Given the description of an element on the screen output the (x, y) to click on. 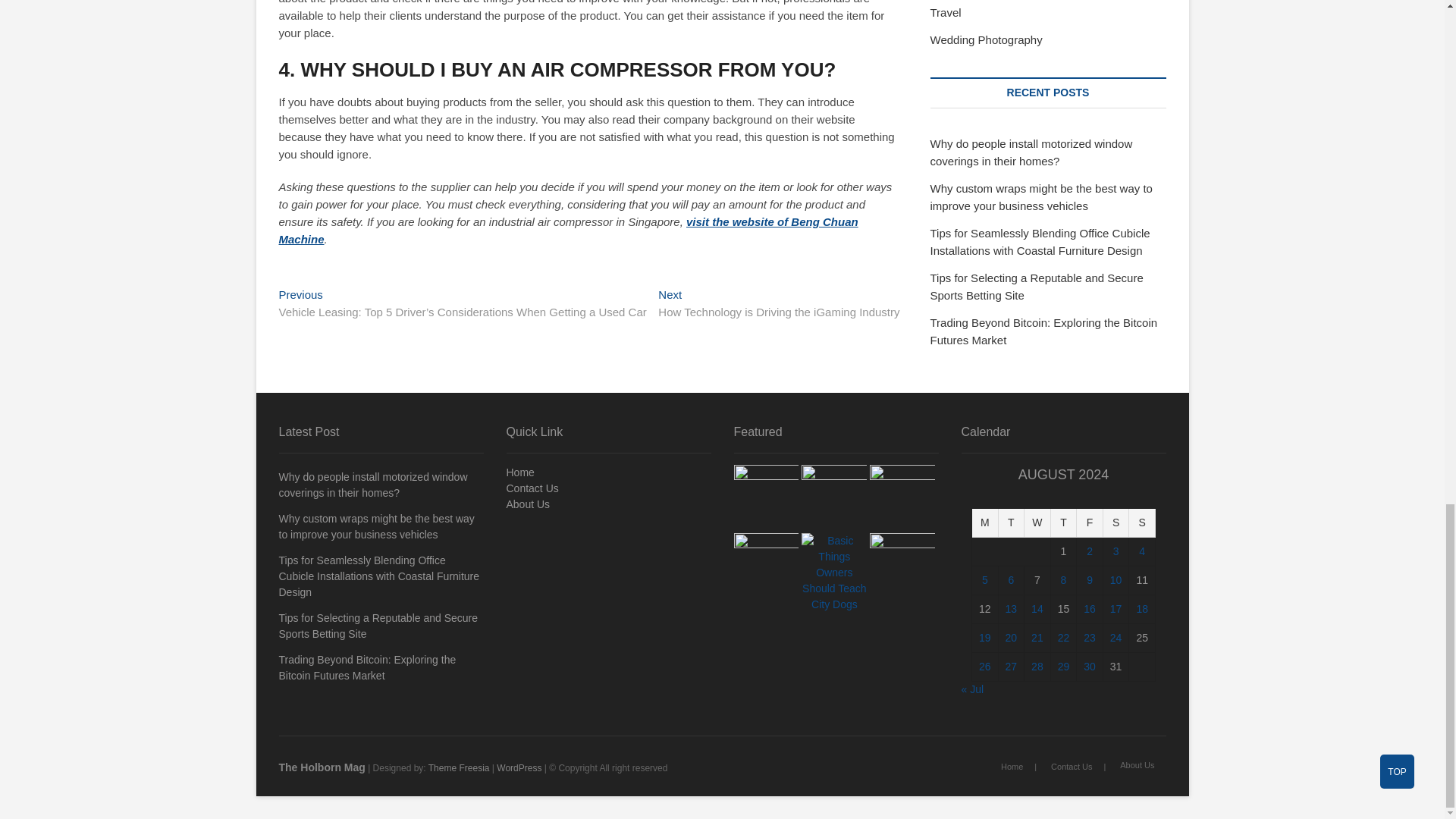
Tuesday (1011, 522)
Wednesday (1038, 522)
visit the website of Beng Chuan Machine (569, 230)
Monday (985, 522)
Saturday (1116, 522)
Friday (1090, 522)
Thursday (1064, 522)
